Given the description of an element on the screen output the (x, y) to click on. 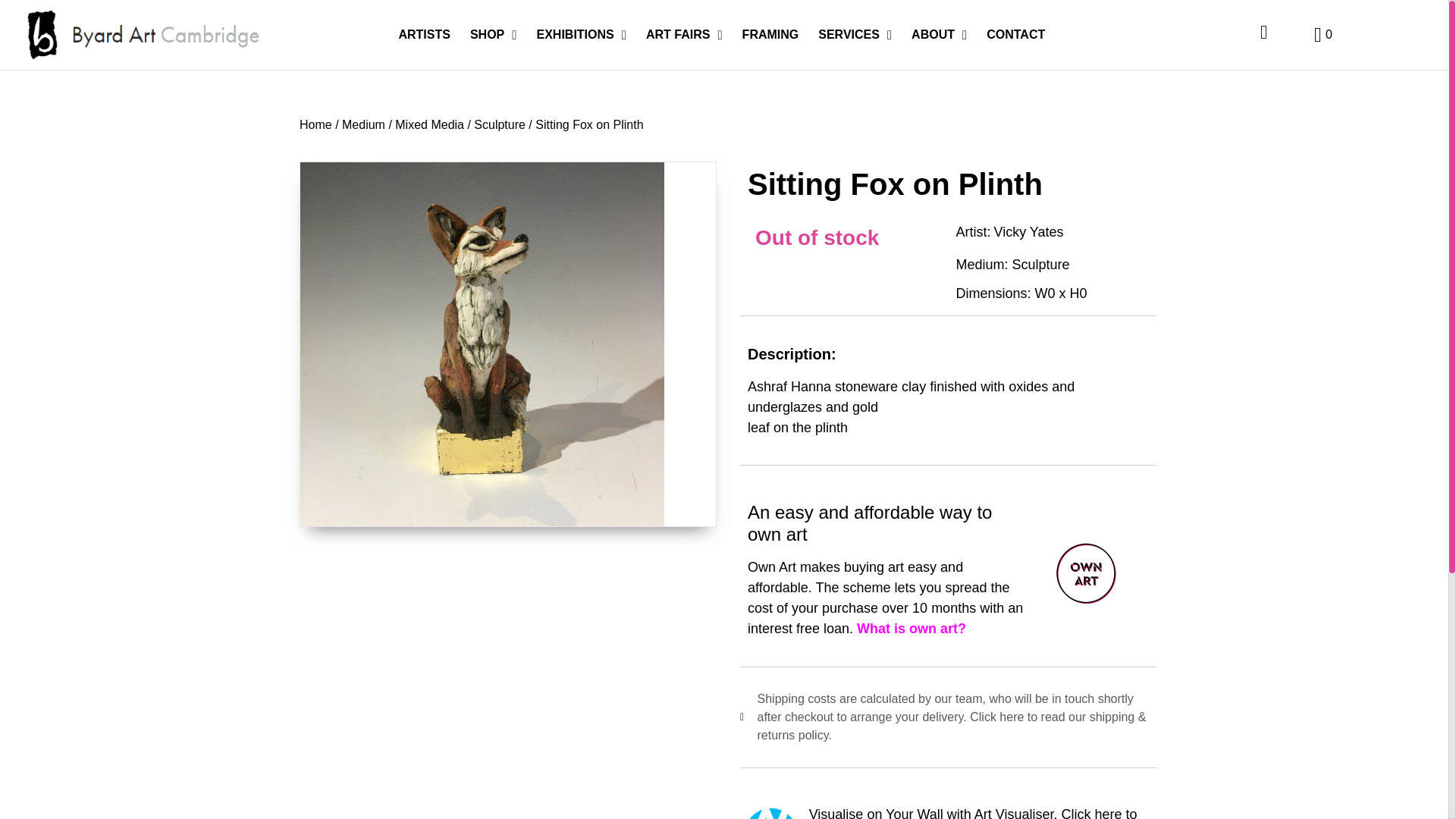
View your shopping cart (1323, 35)
EXHIBITIONS (579, 34)
ARTISTS (424, 34)
ABOUT (938, 34)
ART FAIRS (684, 34)
FRAMING (770, 34)
SERVICES (854, 34)
SHOP (493, 34)
